Given the description of an element on the screen output the (x, y) to click on. 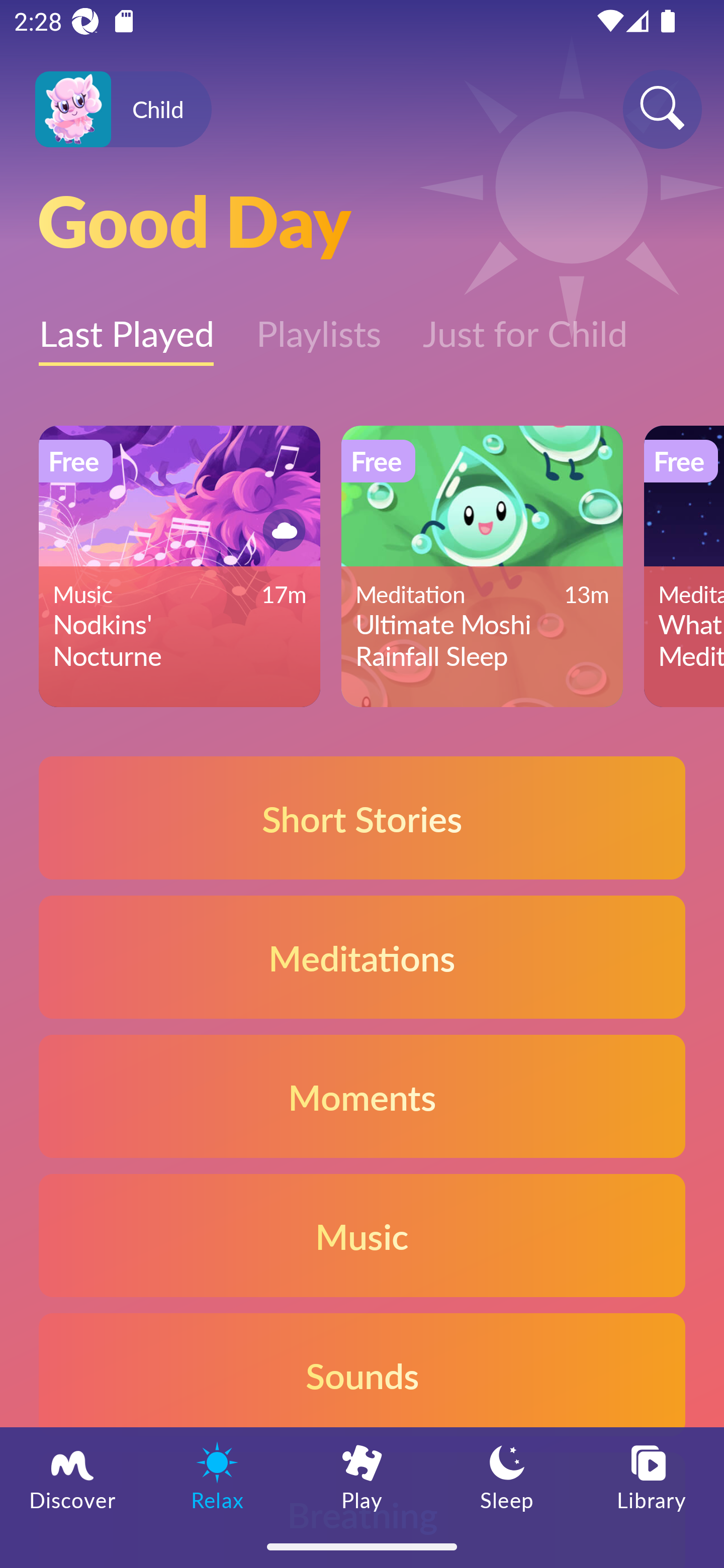
Profile icon Child (123, 109)
Playlists (317, 322)
Just for Child (524, 322)
Button (280, 529)
Short Stories (361, 817)
Meditations (361, 957)
Moments (361, 1096)
Music (361, 1234)
Sounds (361, 1374)
Discover (72, 1475)
Play (361, 1475)
Sleep (506, 1475)
Library (651, 1475)
